Given the description of an element on the screen output the (x, y) to click on. 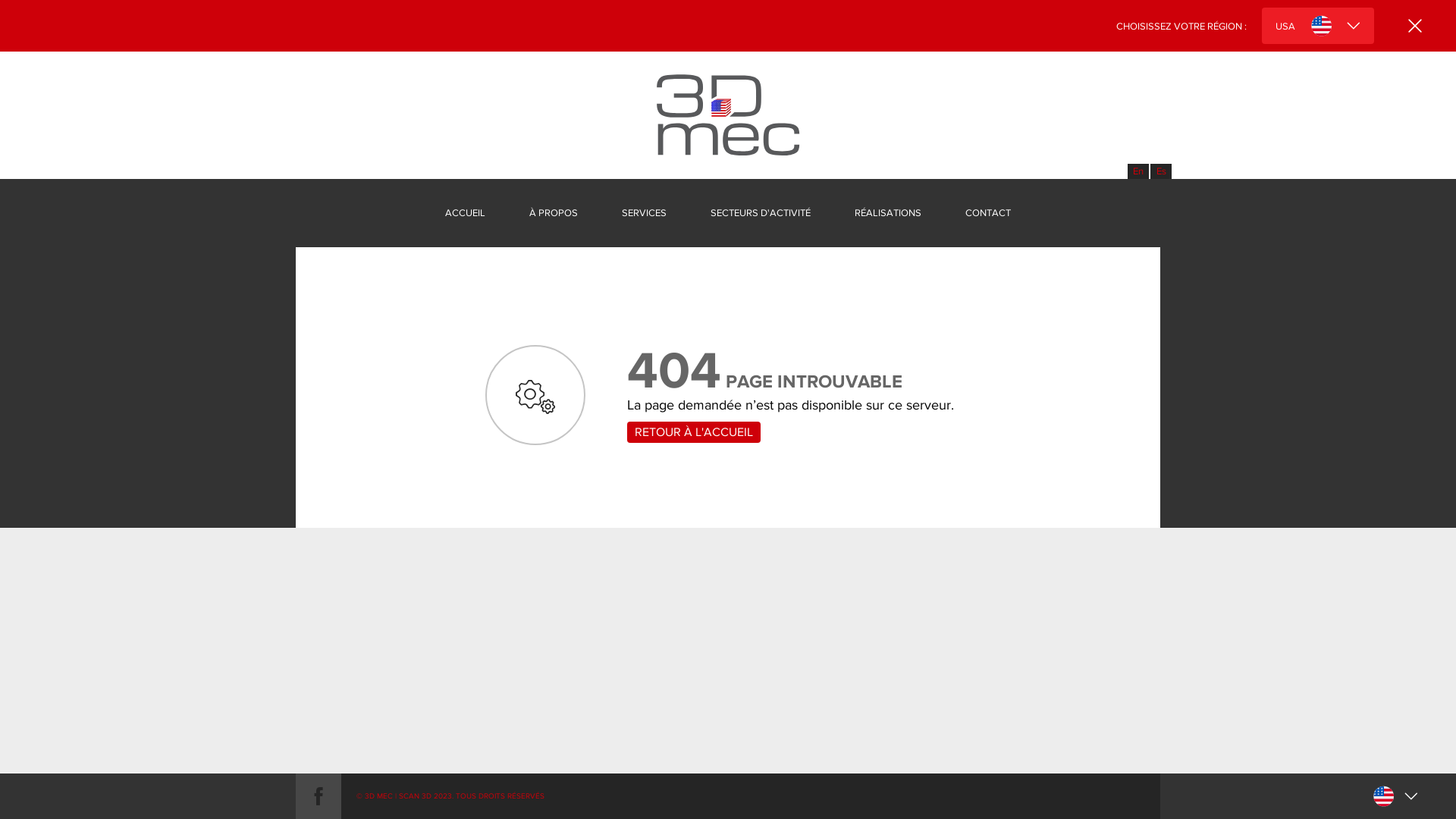
SERVICES Element type: text (643, 212)
USA Element type: text (1317, 25)
CONTACT Element type: text (987, 212)
en Element type: text (1137, 170)
ACCUEIL Element type: text (465, 212)
es Element type: text (1160, 170)
